Given the description of an element on the screen output the (x, y) to click on. 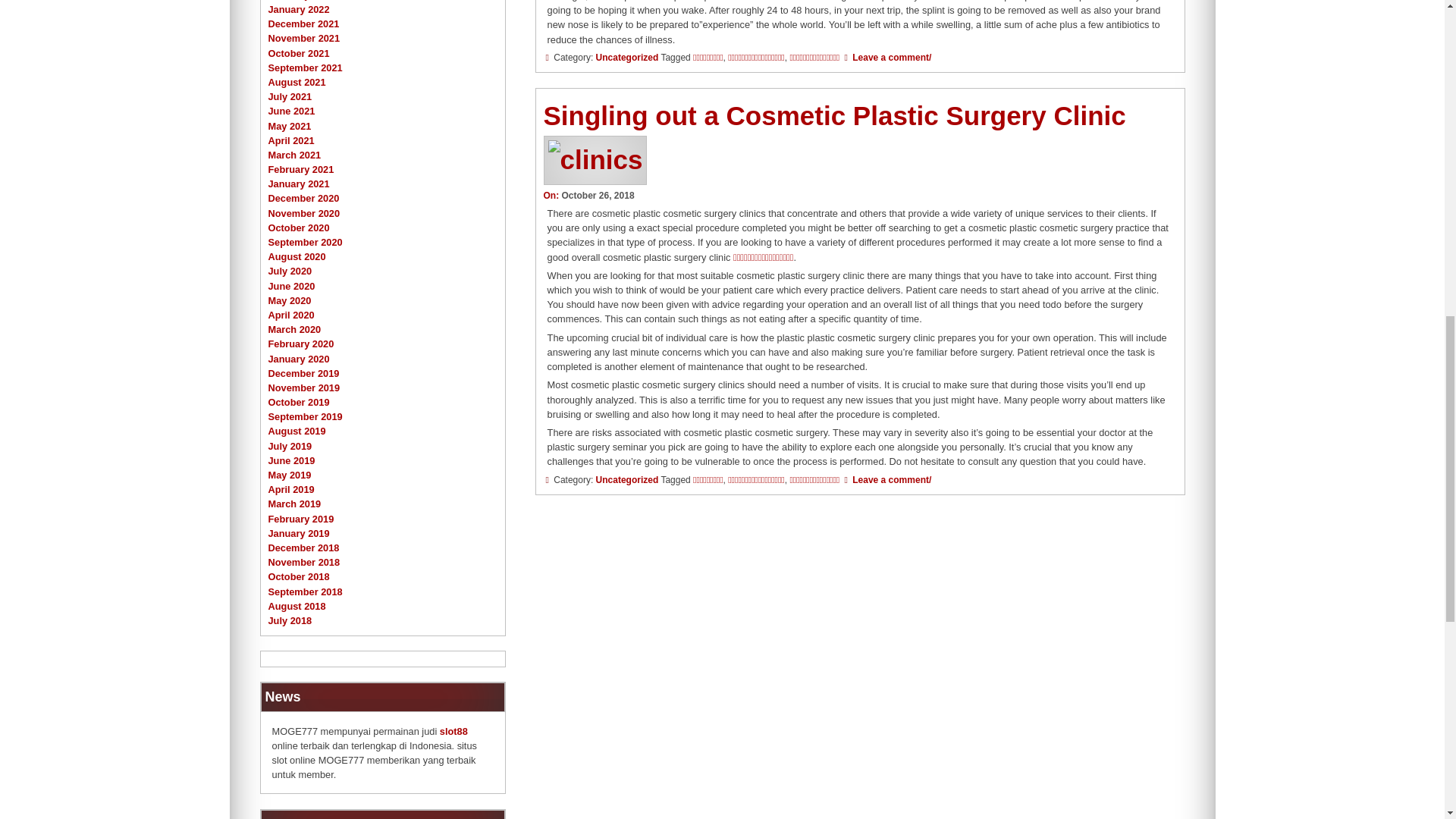
Uncategorized (627, 57)
Uncategorized (627, 480)
Singling out a Cosmetic Plastic Surgery Clinic (834, 115)
October 26, 2018 (596, 195)
